Given the description of an element on the screen output the (x, y) to click on. 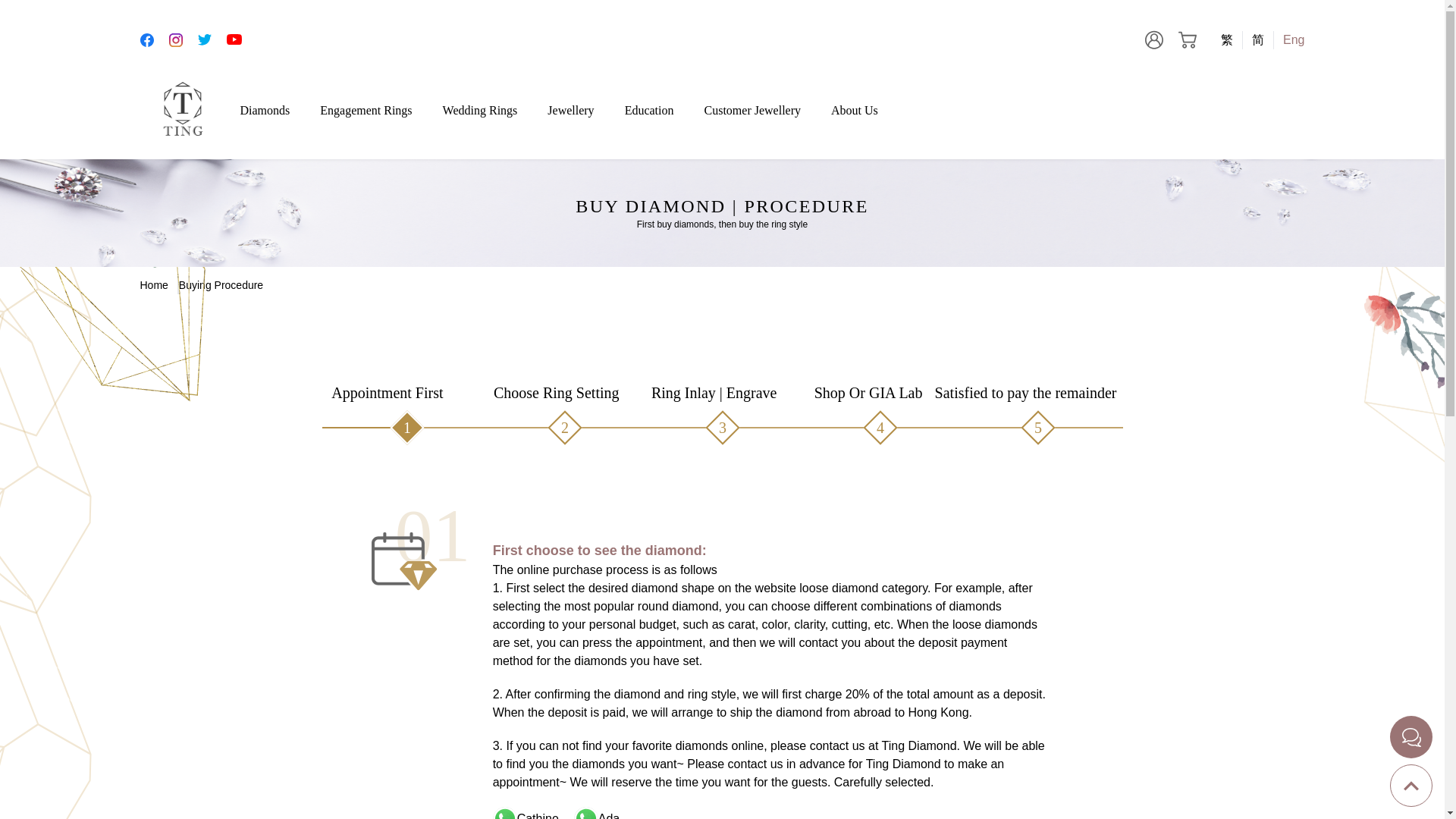
Eng (1289, 39)
Engagement Rings (366, 110)
Diamonds (264, 110)
